Given the description of an element on the screen output the (x, y) to click on. 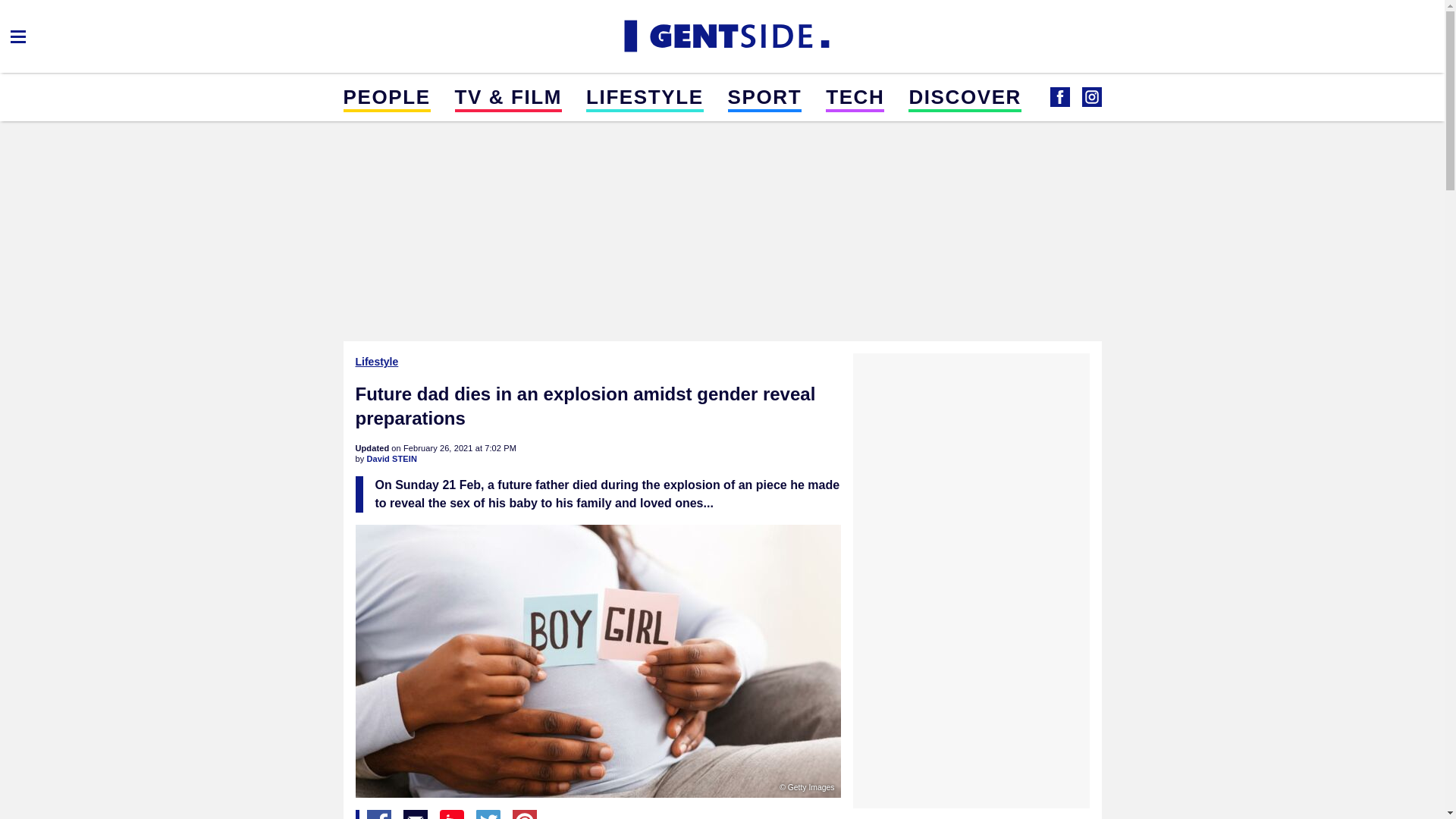
Pin it (524, 814)
PEOPLE (385, 96)
Share on Flipboard (451, 814)
Lifestyle (378, 361)
Share on Mail (415, 814)
Gentside UK (721, 36)
TECH (854, 96)
DISCOVER (965, 96)
LIFESTYLE (644, 96)
Share on Facebook (378, 814)
